Given the description of an element on the screen output the (x, y) to click on. 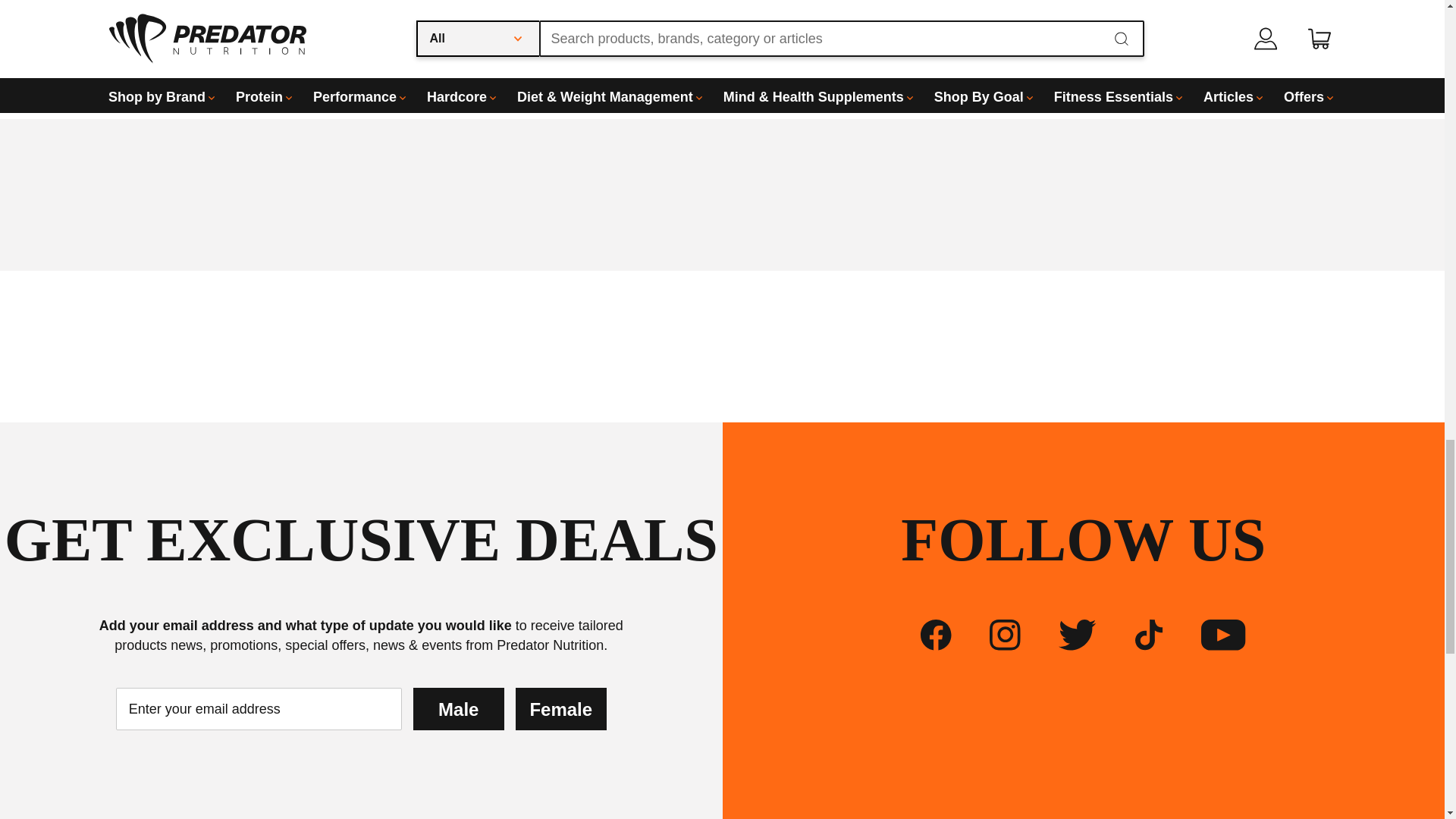
Female (561, 708)
Male (458, 708)
